Given the description of an element on the screen output the (x, y) to click on. 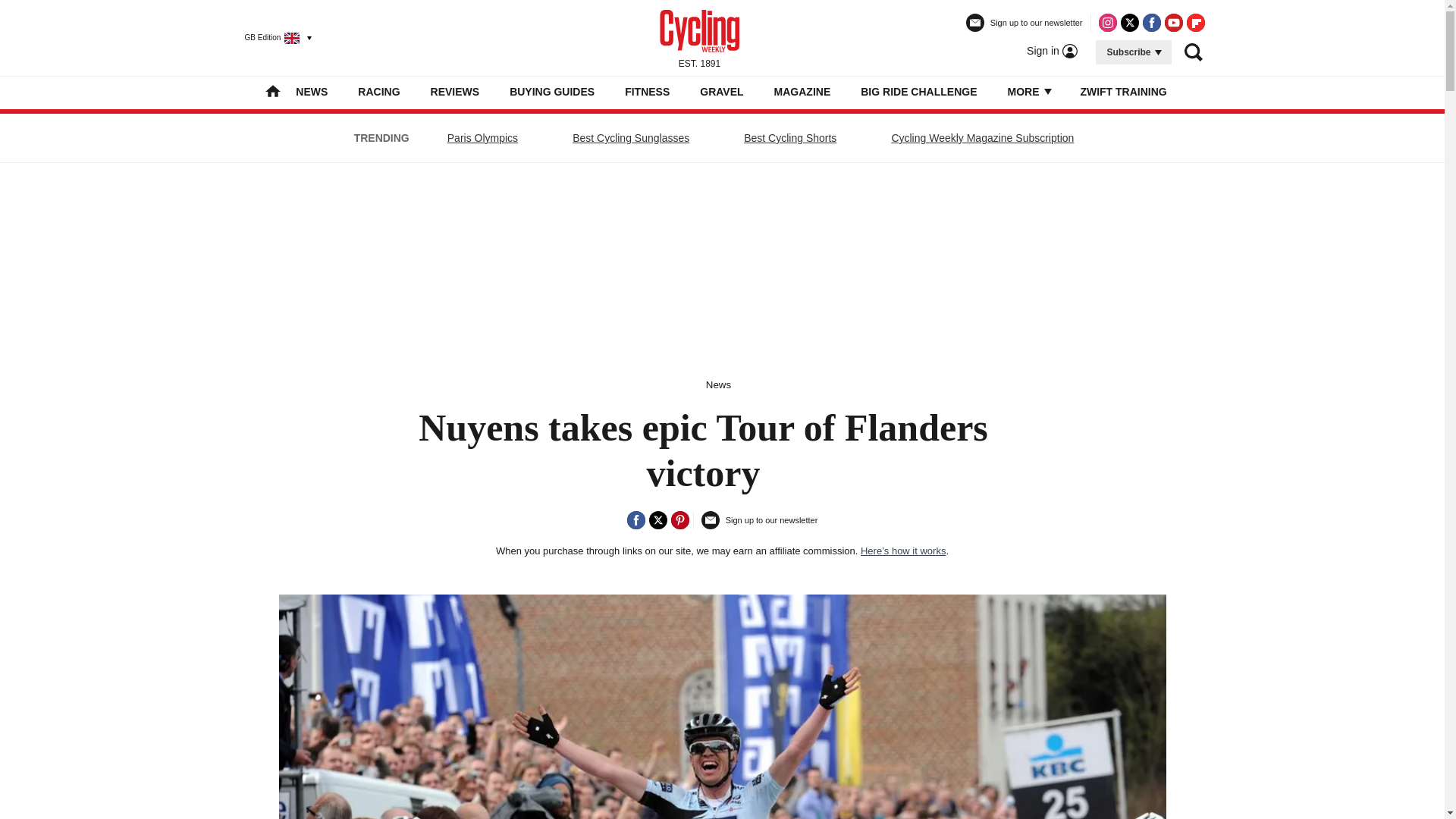
REVIEWS (455, 91)
GRAVEL (721, 91)
Best Cycling Shorts (789, 137)
News (718, 384)
FITNESS (646, 91)
EST. 1891 (699, 37)
Cycling Weekly Magazine Subscription (981, 137)
Best Cycling Sunglasses (630, 137)
Sign up to our newsletter (1024, 28)
GB Edition (271, 37)
MAGAZINE (802, 91)
NEWS (311, 91)
BUYING GUIDES (551, 91)
BIG RIDE CHALLENGE (918, 91)
ZWIFT TRAINING (1123, 91)
